Given the description of an element on the screen output the (x, y) to click on. 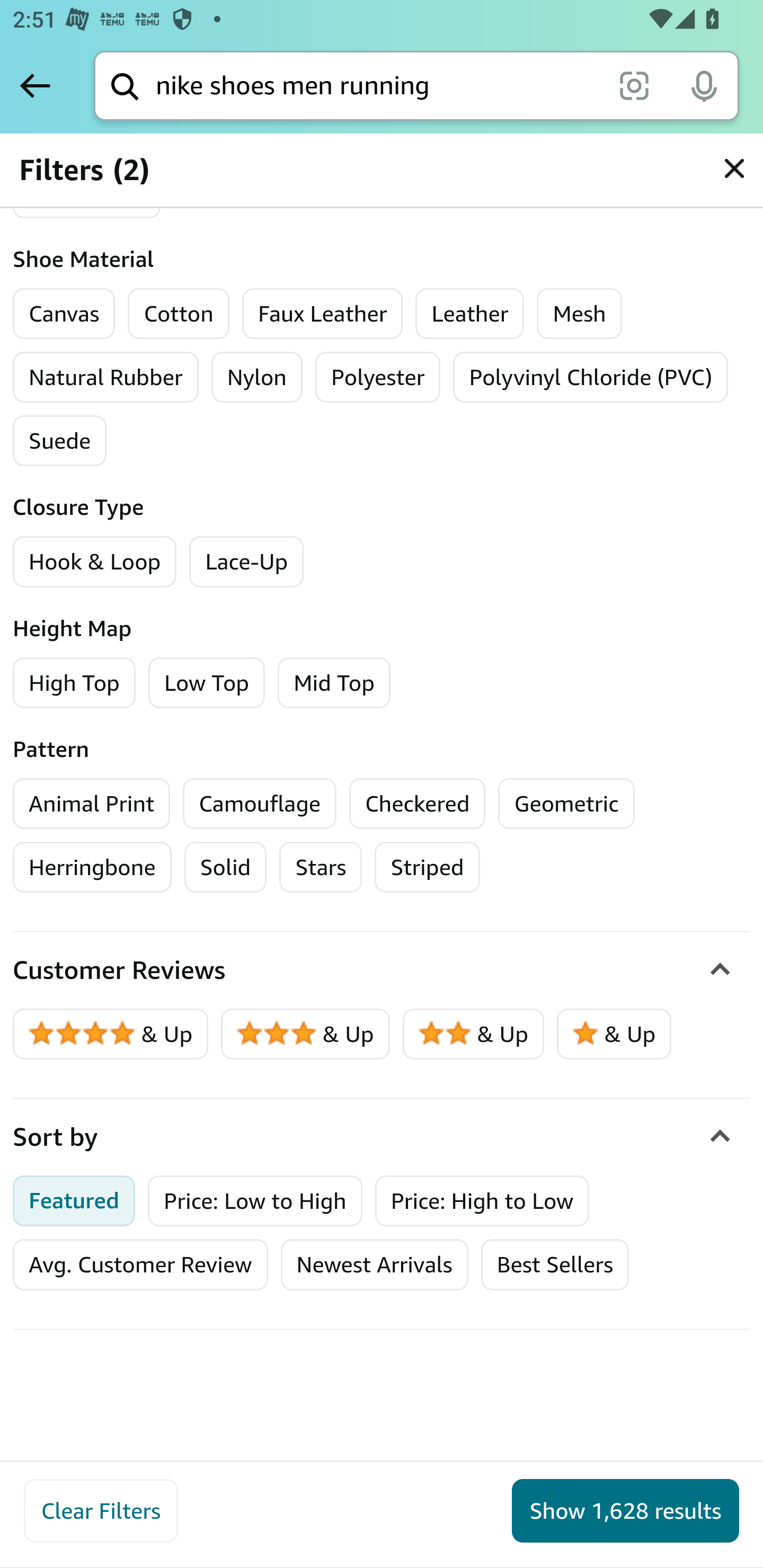
Back (35, 85)
scan it (633, 85)
Canvas (63, 313)
Cotton (178, 313)
Faux Leather (322, 313)
Leather (469, 313)
Mesh (579, 313)
Natural Rubber (105, 376)
Nylon (256, 376)
Polyester (377, 376)
Polyvinyl Chloride (PVC) (591, 376)
Suede (60, 441)
Hook & Loop (94, 562)
Lace-Up (247, 562)
High Top (74, 682)
Low Top (206, 682)
Mid Top (333, 682)
Animal Print (91, 803)
Camouflage (260, 803)
Checkered (416, 803)
Geometric (566, 803)
Herringbone (91, 866)
Solid (225, 866)
Stars (320, 866)
Striped (426, 866)
Customer Reviews (381, 970)
4 Stars & Up (110, 1033)
3 Stars & Up (305, 1033)
2 Stars & Up (473, 1033)
1 Star & Up (614, 1033)
Sort by (381, 1136)
Price: Low to High (255, 1200)
Price: High to Low (481, 1200)
Avg. Customer Review (140, 1264)
Newest Arrivals (374, 1264)
Best Sellers (554, 1264)
Clear Filters (100, 1510)
Show 1,628 results (625, 1510)
